Given the description of an element on the screen output the (x, y) to click on. 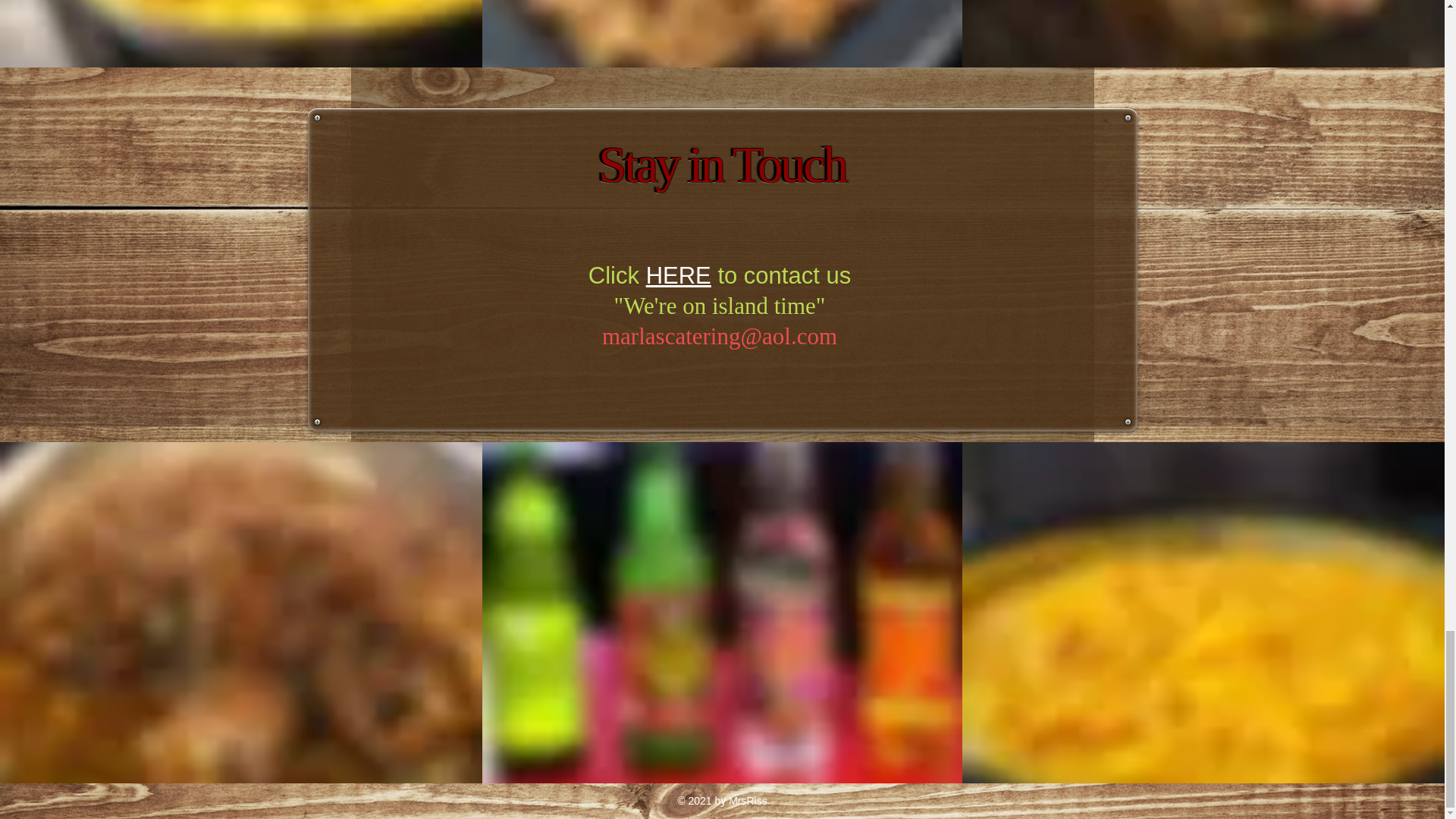
HERE (678, 275)
